Given the description of an element on the screen output the (x, y) to click on. 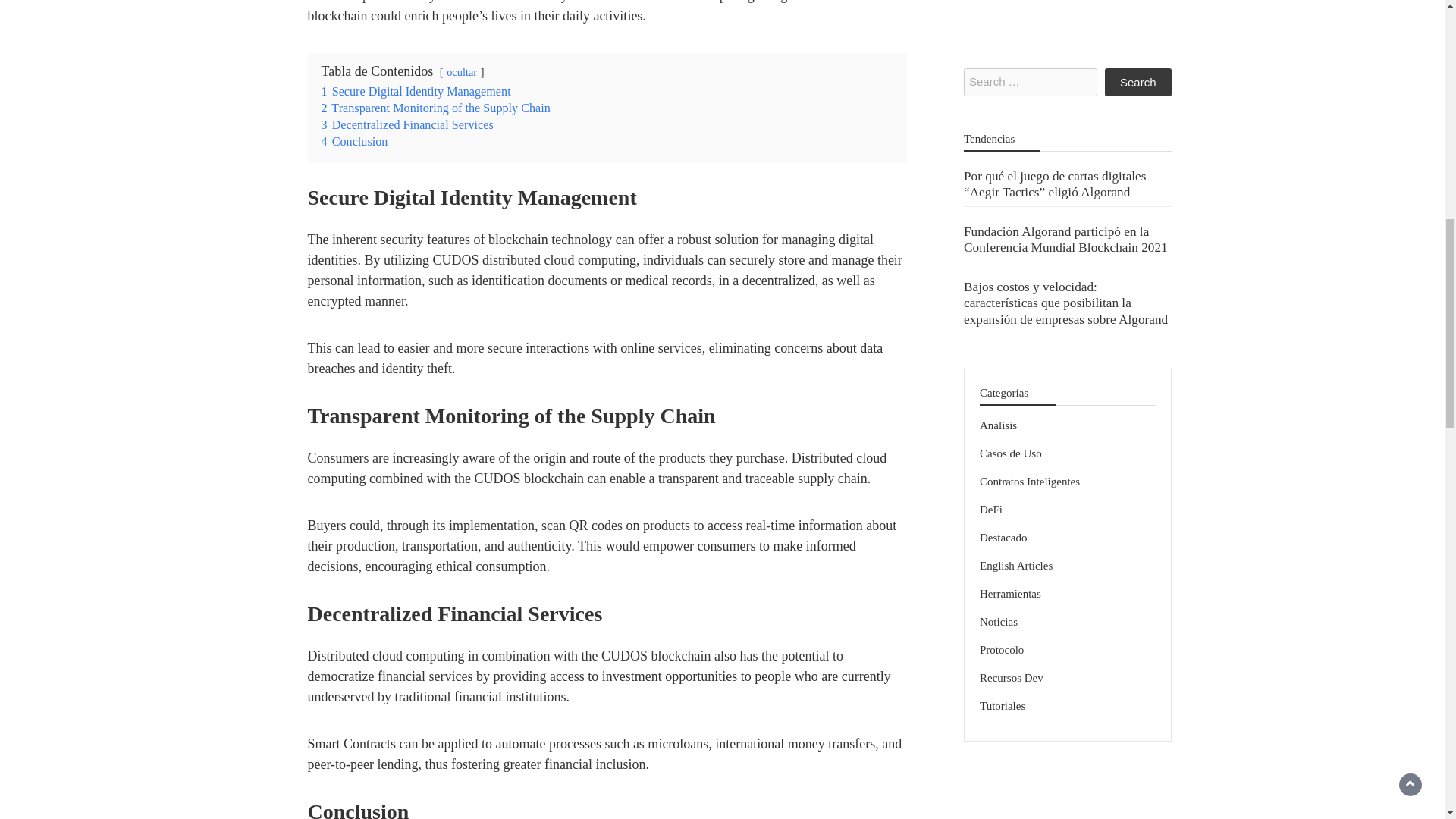
ocultar (461, 71)
3 Decentralized Financial Services (407, 124)
2 Transparent Monitoring of the Supply Chain (435, 108)
4 Conclusion (354, 141)
1 Secure Digital Identity Management (416, 91)
